Given the description of an element on the screen output the (x, y) to click on. 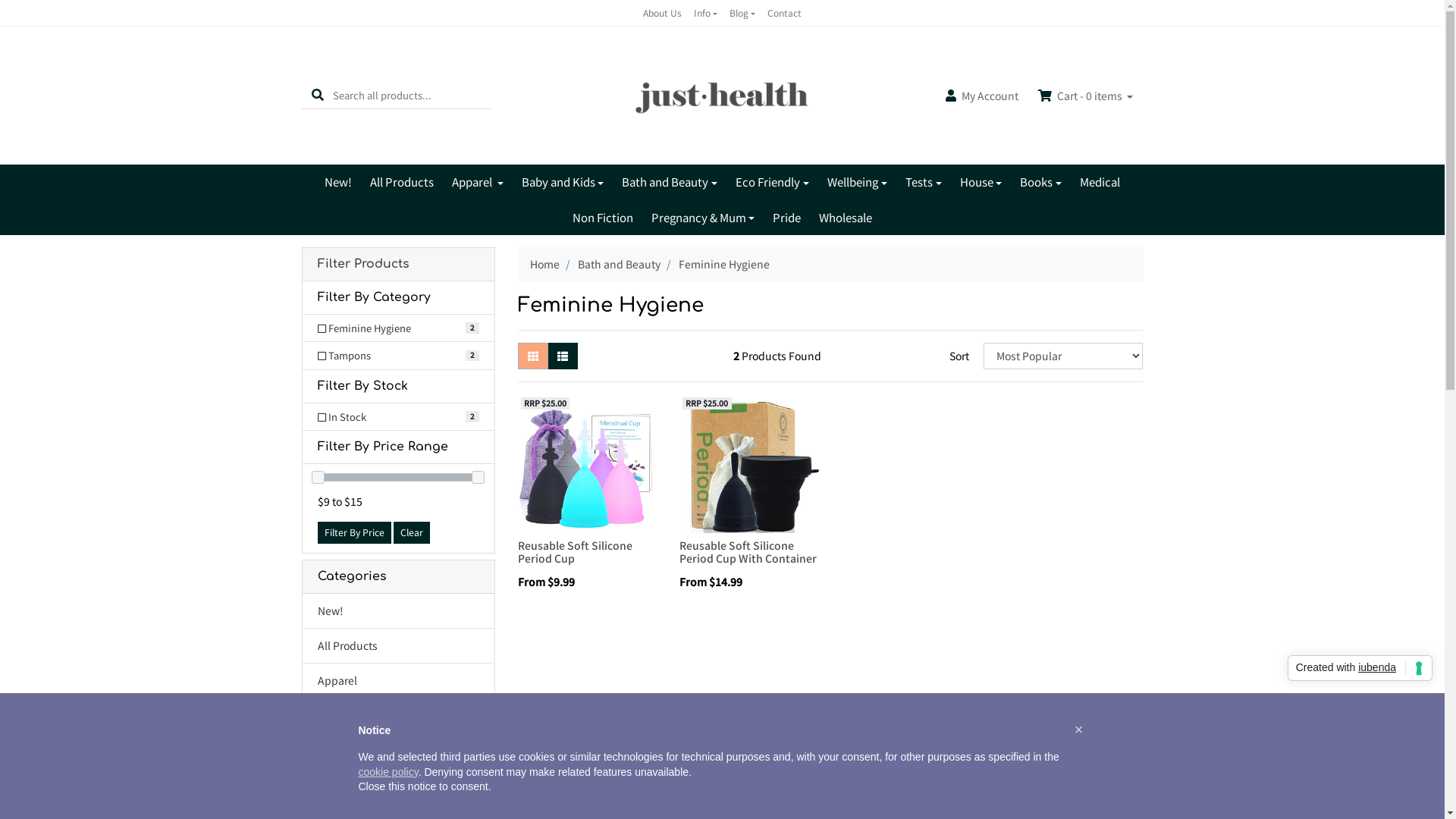
Info Element type: text (705, 12)
Tests Element type: text (923, 182)
Wellbeing Element type: text (857, 182)
Feminine Hygiene Element type: text (722, 263)
Clear Element type: text (410, 531)
New! Element type: text (337, 182)
House Element type: text (980, 182)
Apparel Element type: text (397, 680)
In Stock
2 Element type: text (397, 416)
Blog Element type: text (742, 12)
Filter By Price Element type: text (353, 531)
cookie policy Element type: text (387, 771)
Baby and Kids Element type: text (397, 715)
About Us Element type: text (662, 12)
My Account Element type: text (981, 94)
Filter Products Element type: text (397, 264)
Pride Element type: text (786, 217)
All Products Element type: text (397, 645)
Bath and Beauty Element type: text (669, 182)
Tampons
2 Element type: text (397, 355)
Bath and Beauty Element type: text (618, 263)
New! Element type: text (397, 610)
Reusable Soft Silicone Period Cup With Container Element type: text (747, 551)
Home Element type: text (543, 263)
Created with iubenda Element type: text (1359, 667)
Search Element type: text (317, 94)
Medical Element type: text (1099, 182)
Cart - 0 items Element type: text (1085, 94)
Eco Friendly Element type: text (772, 182)
Pregnancy & Mum Element type: text (703, 217)
Bath and Beauty Element type: text (397, 750)
Apparel Element type: text (477, 182)
Just Health Element type: hover (722, 93)
Feminine Hygiene
2 Element type: text (397, 327)
Baby and Kids Element type: text (562, 182)
Eco Friendly Element type: text (397, 785)
Books Element type: text (1040, 182)
Non Fiction Element type: text (602, 217)
All Products Element type: text (401, 182)
Contact Element type: text (784, 12)
Reusable Soft Silicone Period Cup Element type: text (574, 551)
Wholesale Element type: text (845, 217)
